Given the description of an element on the screen output the (x, y) to click on. 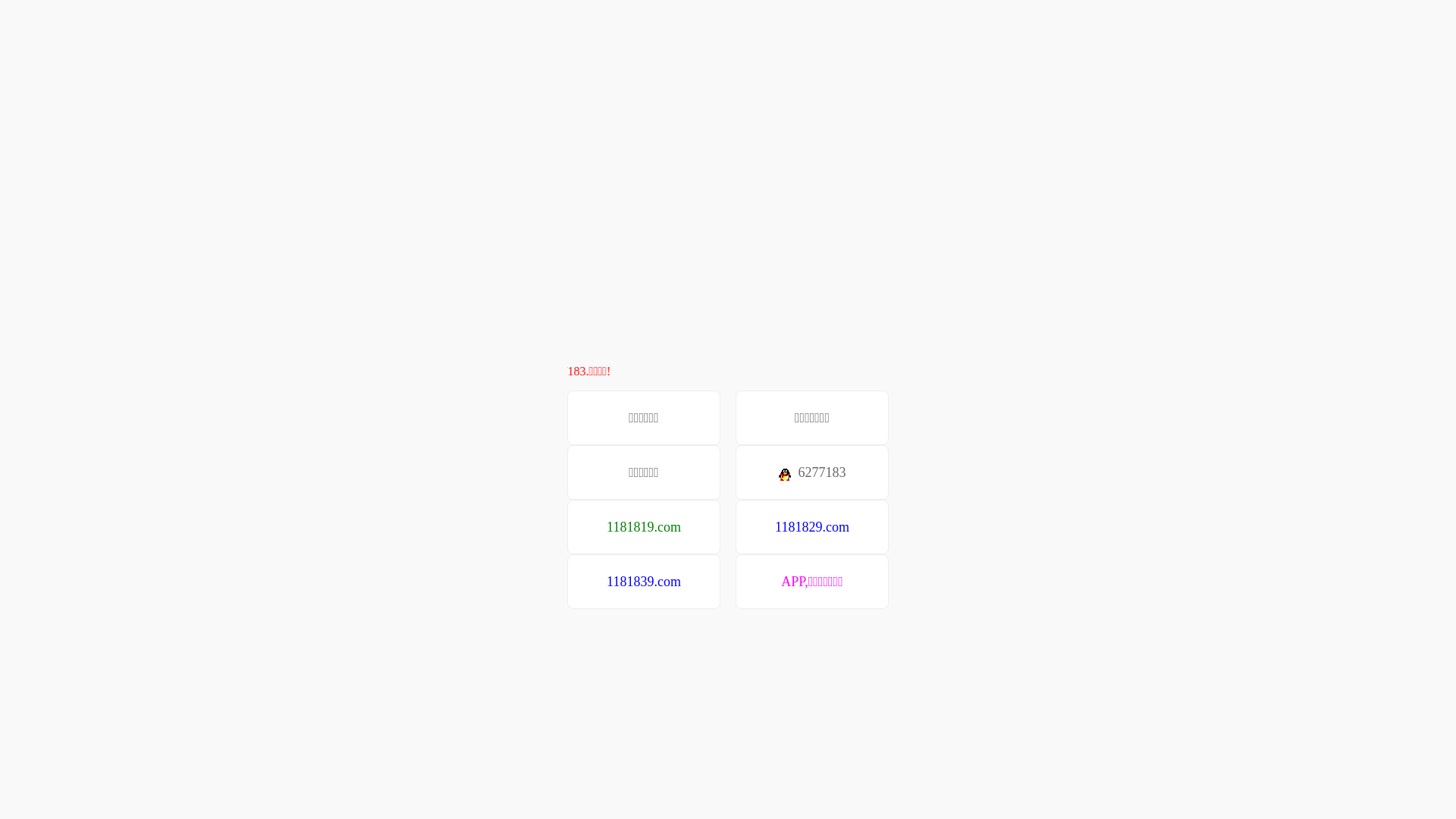
1181829.com Element type: text (812, 526)
1181819.com Element type: text (643, 526)
1181839.com Element type: text (643, 581)
